Given the description of an element on the screen output the (x, y) to click on. 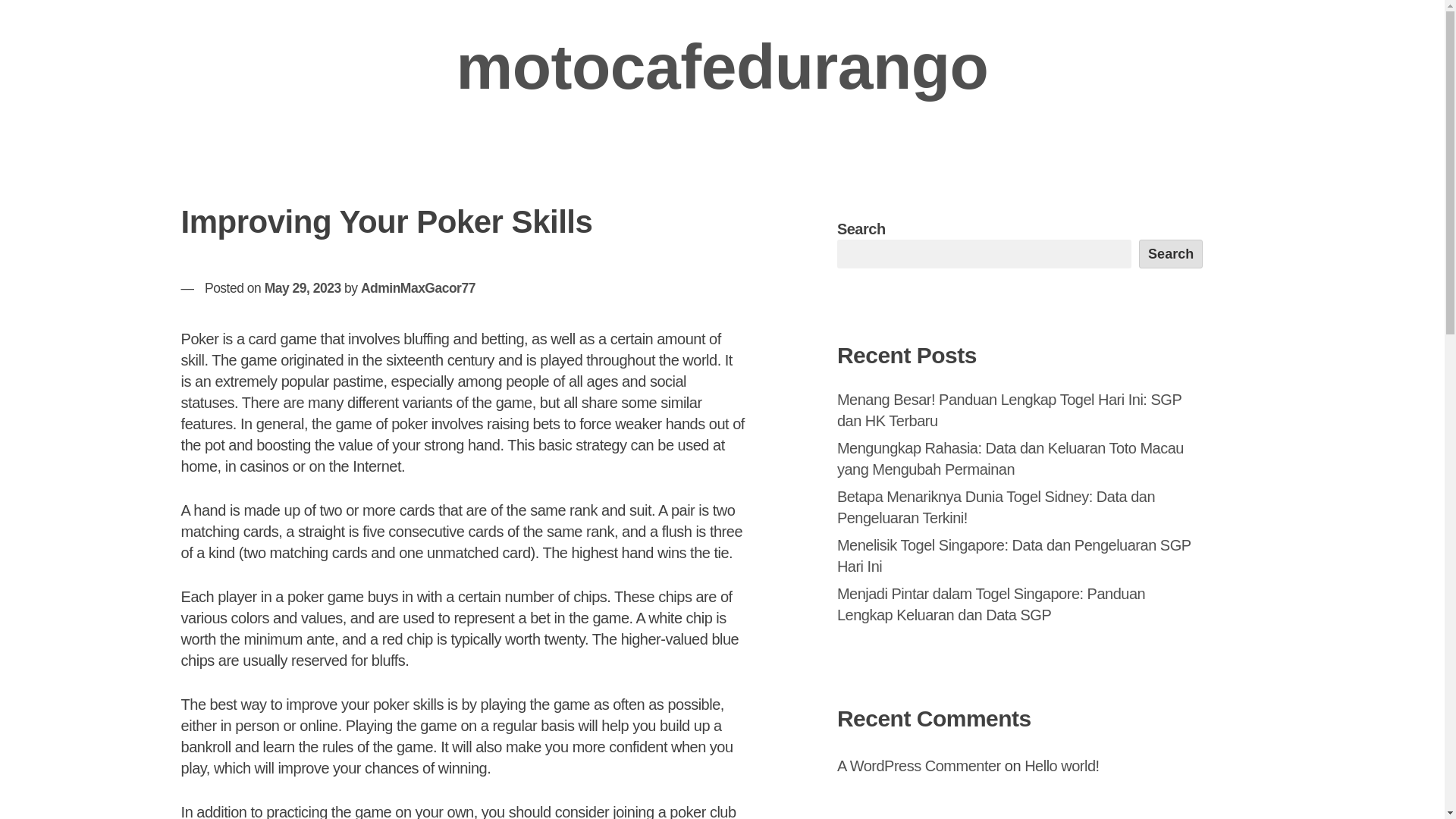
Hello world! (1062, 765)
May 29, 2023 (302, 287)
AdminMaxGacor77 (418, 287)
Search (1171, 253)
A WordPress Commenter (919, 765)
motocafedurango (722, 66)
Menelisik Togel Singapore: Data dan Pengeluaran SGP Hari Ini (1014, 555)
